Given the description of an element on the screen output the (x, y) to click on. 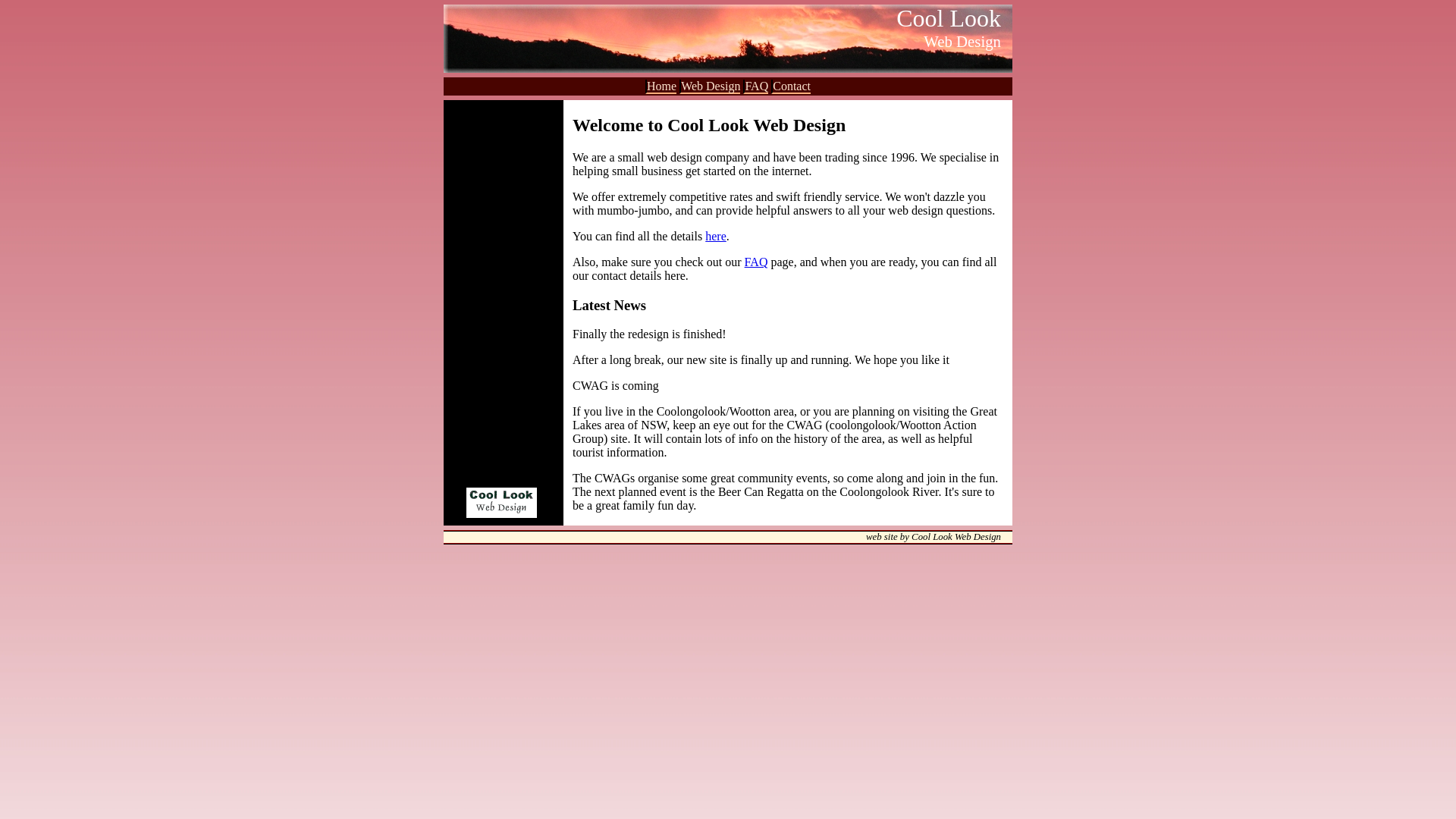
here Element type: text (715, 235)
FAQ Element type: text (756, 261)
Contact Element type: text (790, 86)
Home Element type: text (660, 86)
FAQ Element type: text (755, 86)
Web Design Element type: text (709, 86)
